Given the description of an element on the screen output the (x, y) to click on. 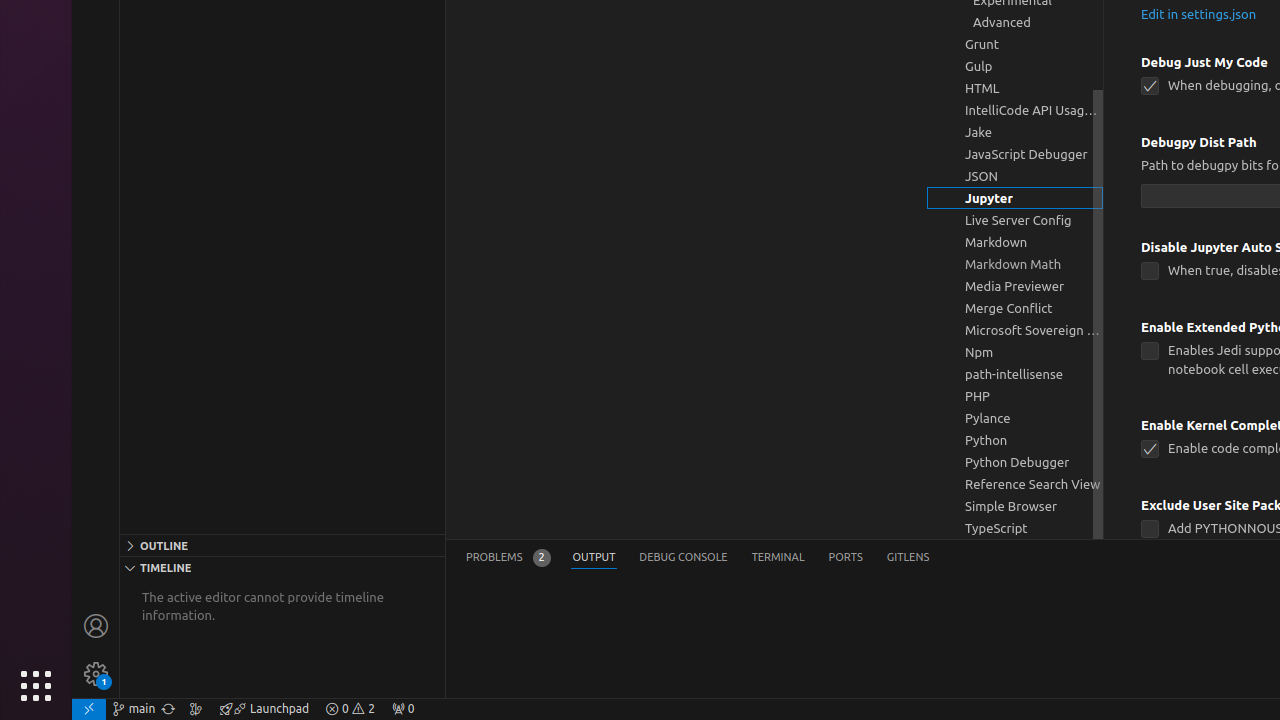
Terminal (Ctrl+`) Element type: page-tab (778, 557)
Edit in settings.json: jupyter.completionTriggerCharacters Element type: push-button (1199, 13)
Python, group Element type: tree-item (1015, 440)
Reference Search View, group Element type: tree-item (1015, 484)
Timeline Section Element type: push-button (282, 567)
